Given the description of an element on the screen output the (x, y) to click on. 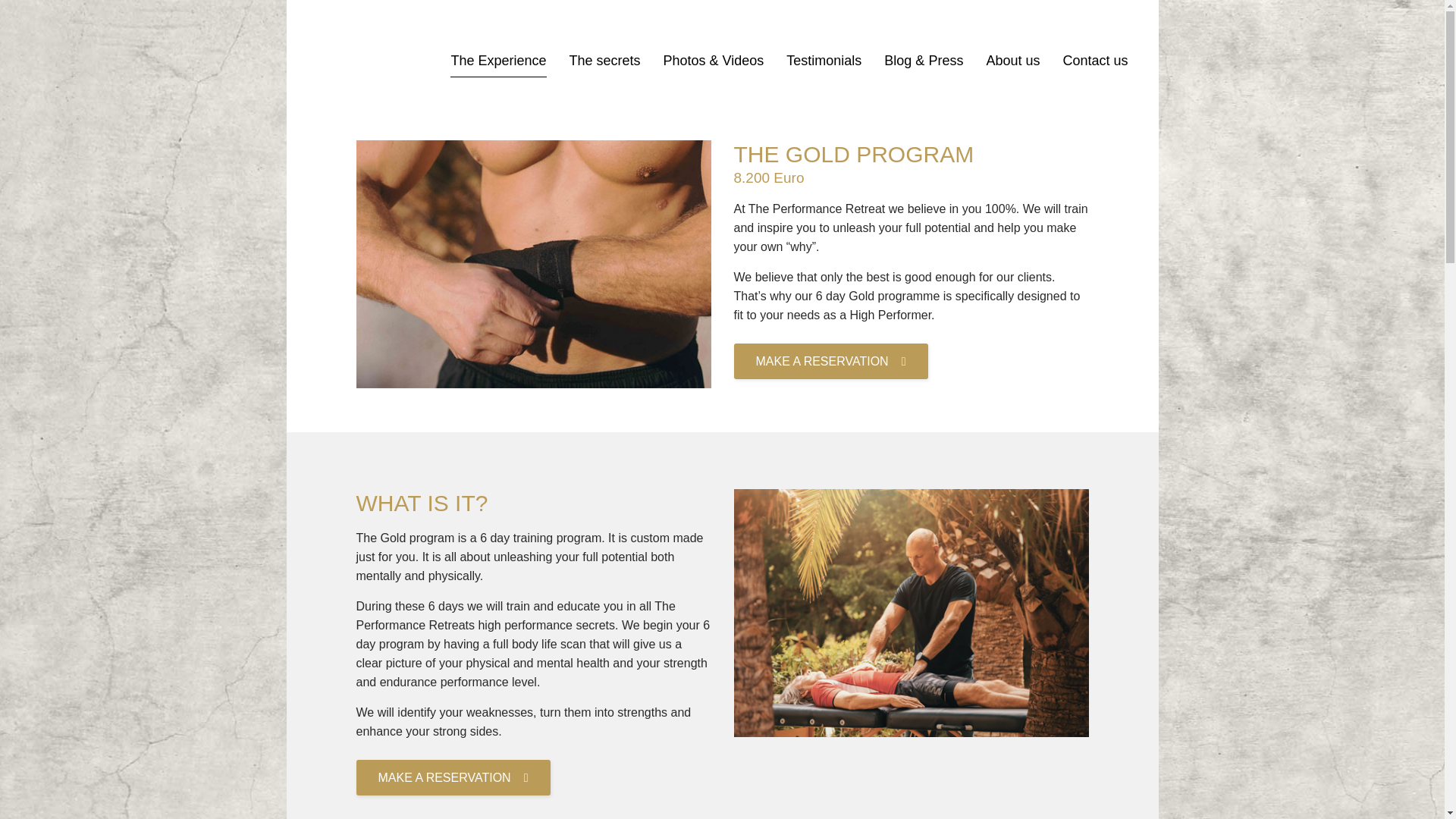
Contact us (1094, 60)
About us (1012, 60)
The Experience (498, 60)
Testimonials (823, 60)
The secrets (603, 60)
